Given the description of an element on the screen output the (x, y) to click on. 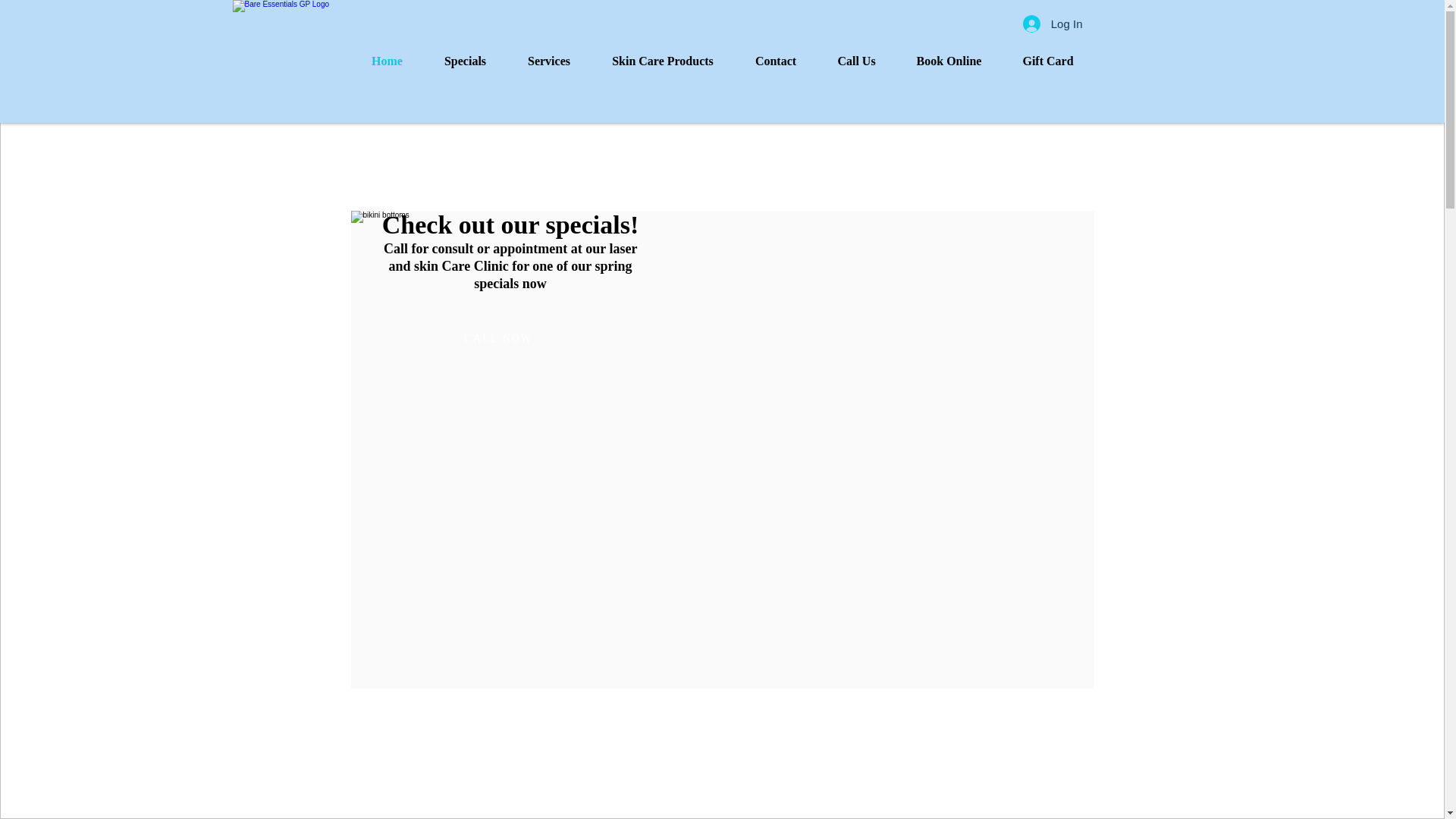
Log In (1052, 23)
CALL NOW (497, 338)
Specials (464, 61)
Gift Card (1048, 61)
Services (548, 61)
Home (386, 61)
Contact (774, 61)
Call Us (856, 61)
Book Online (949, 61)
Skin Care Products (663, 61)
